Given the description of an element on the screen output the (x, y) to click on. 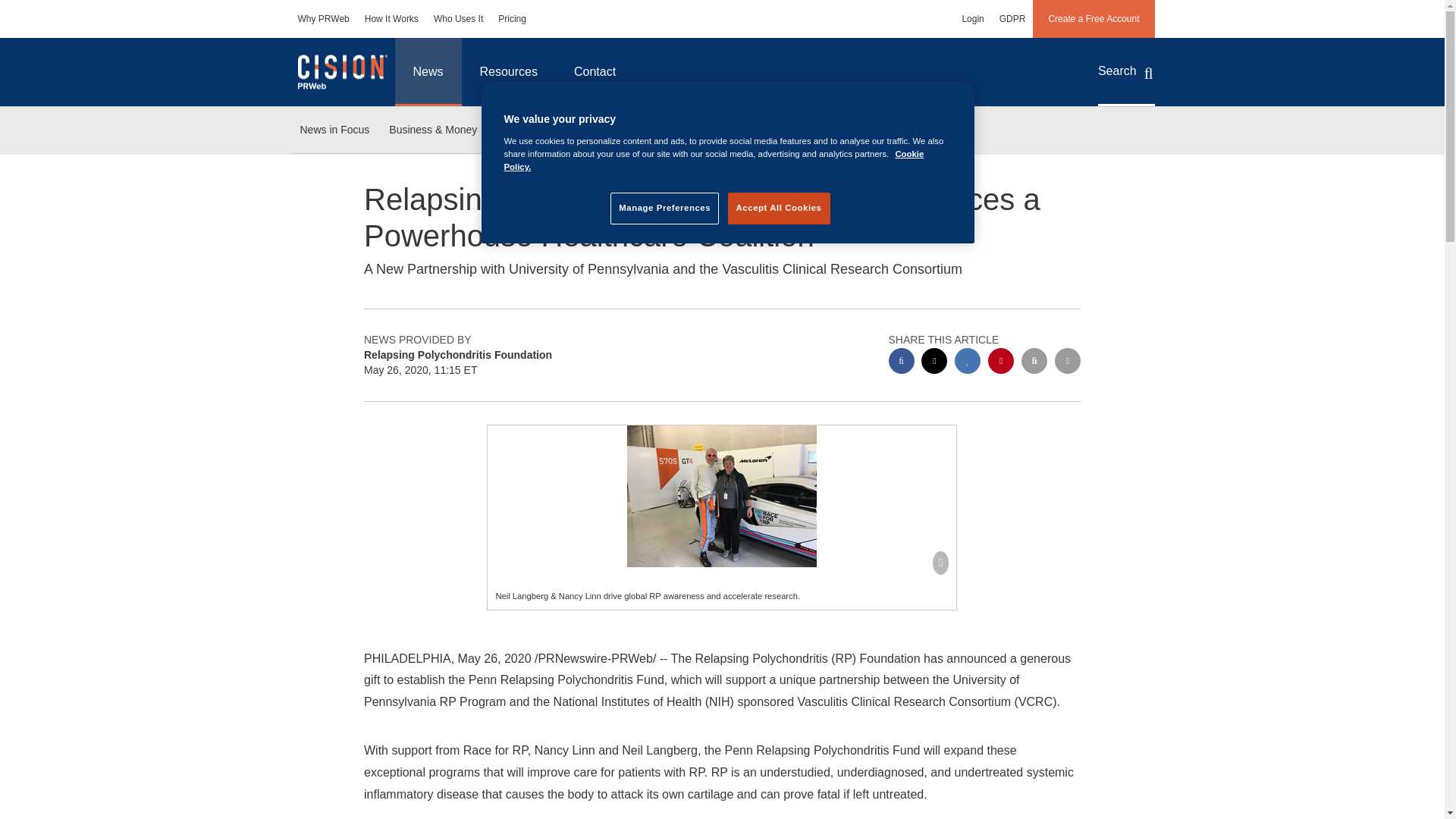
News in Focus (333, 130)
